Given the description of an element on the screen output the (x, y) to click on. 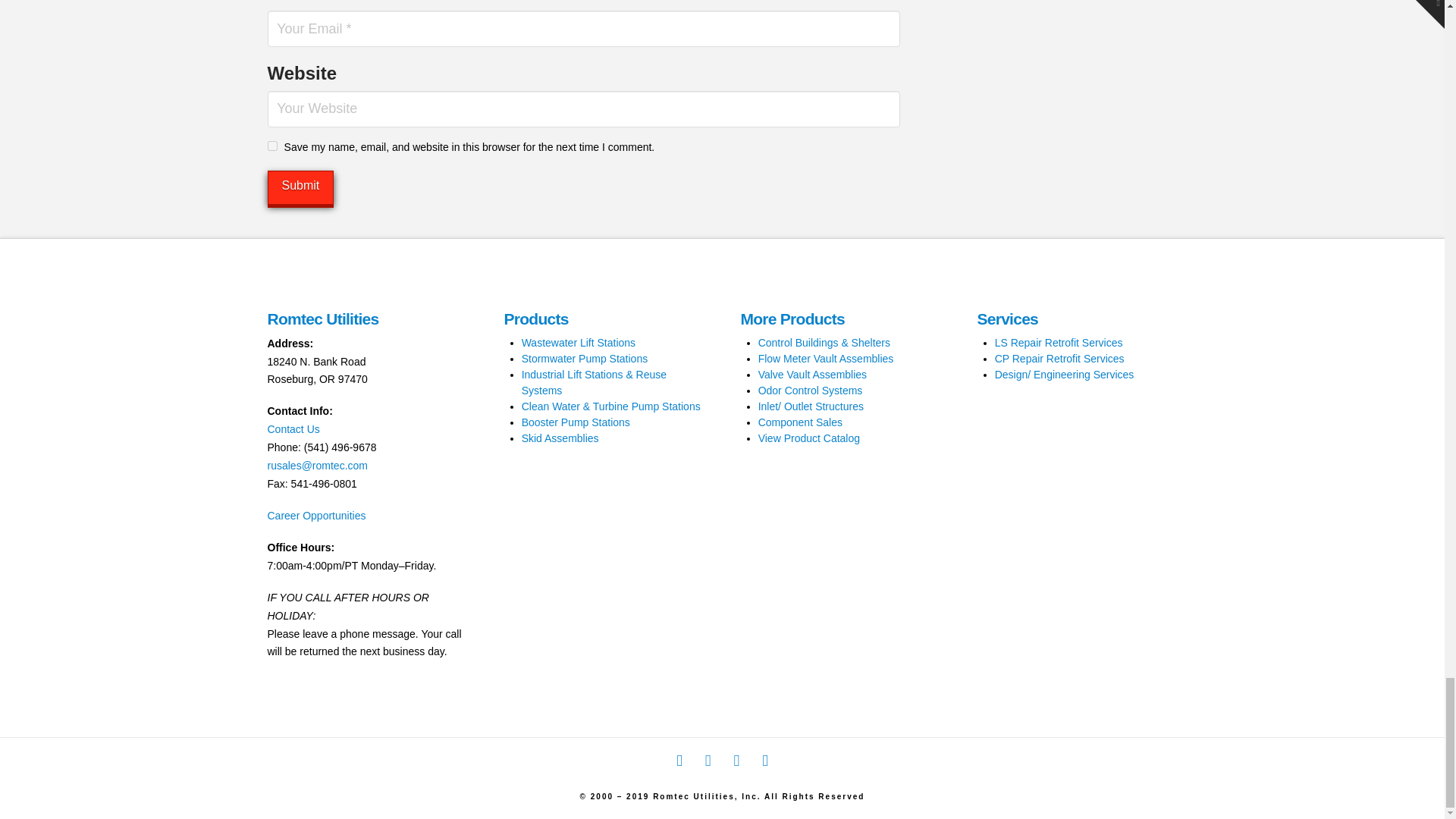
yes (271, 145)
Submit (299, 187)
